Given the description of an element on the screen output the (x, y) to click on. 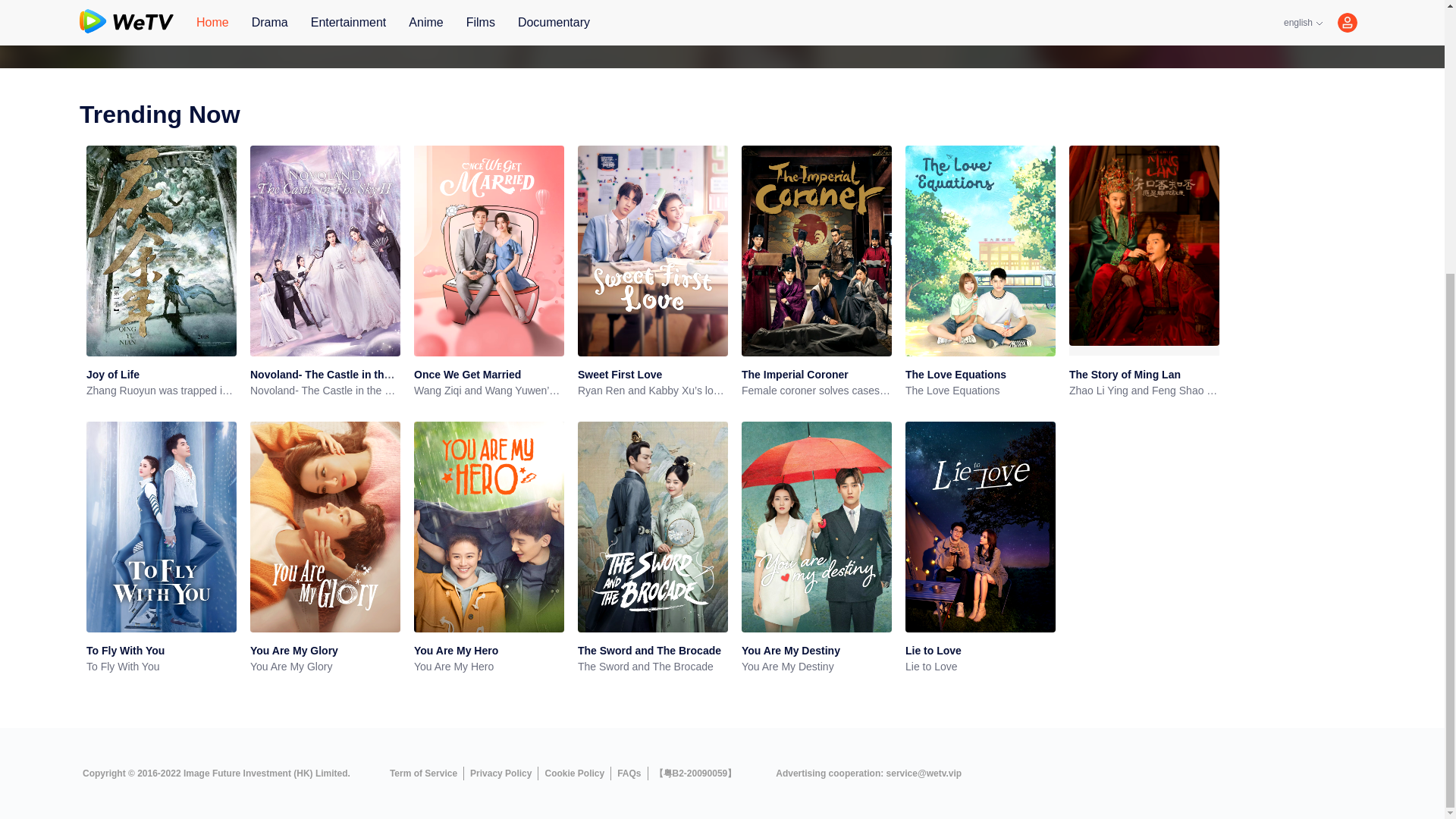
The Story of Ming Lan (1124, 374)
The Love Equations (980, 390)
The Story of Ming Lan (1124, 374)
Novoland- The Castle in the Sky S2 (339, 374)
To Fly With You (124, 650)
Zhang Ruoyun was trapped in court with a risky life (160, 390)
You Are My Hero (455, 650)
Once We Get Married (467, 374)
The Imperial Coroner (794, 374)
Sweet First Love (620, 374)
